Given the description of an element on the screen output the (x, y) to click on. 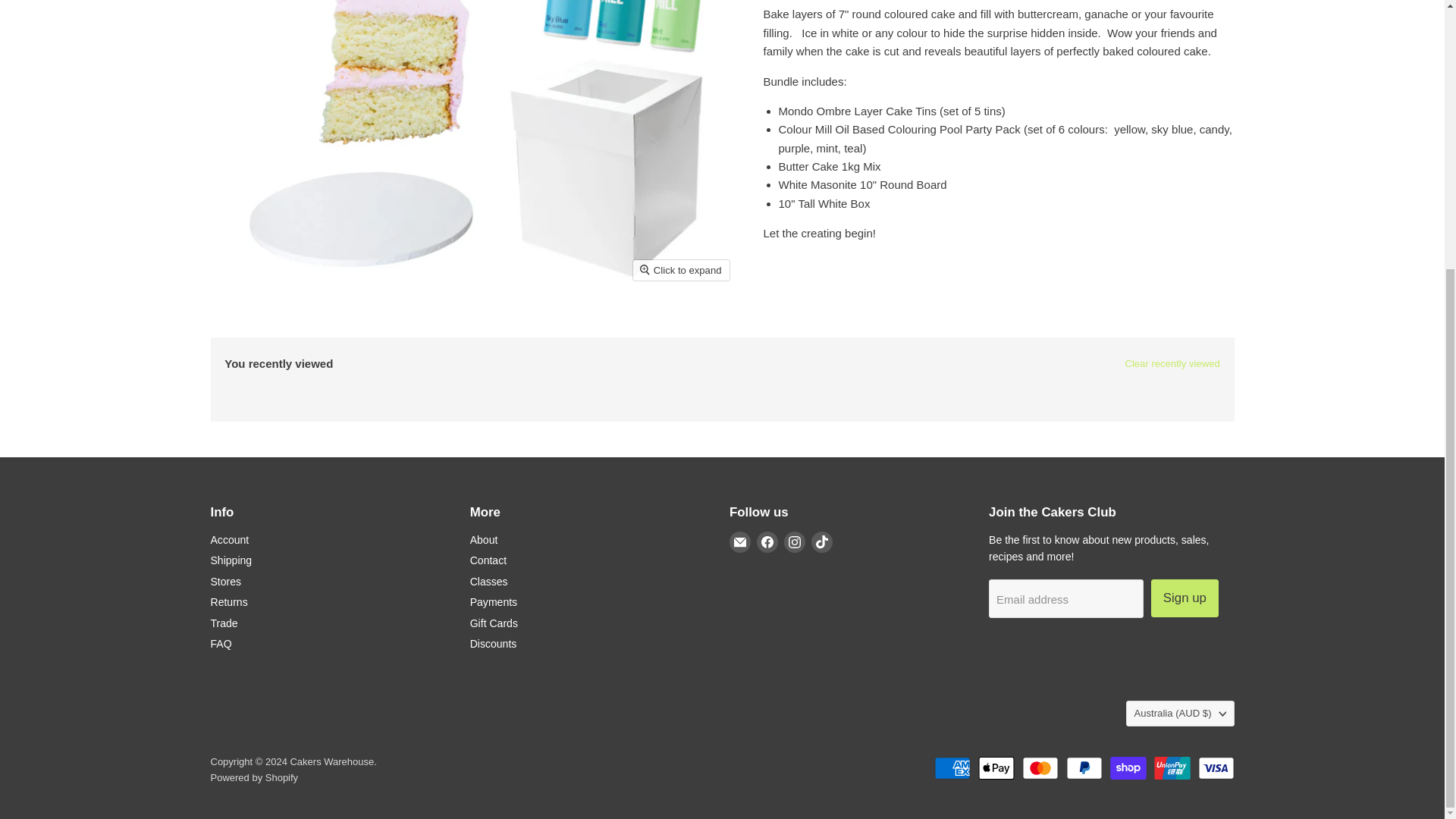
Mastercard (1040, 767)
Shop Pay (1128, 767)
American Express (952, 767)
Facebook (767, 541)
PayPal (1083, 767)
Apple Pay (996, 767)
Email (740, 541)
TikTok (821, 541)
Instagram (794, 541)
